Given the description of an element on the screen output the (x, y) to click on. 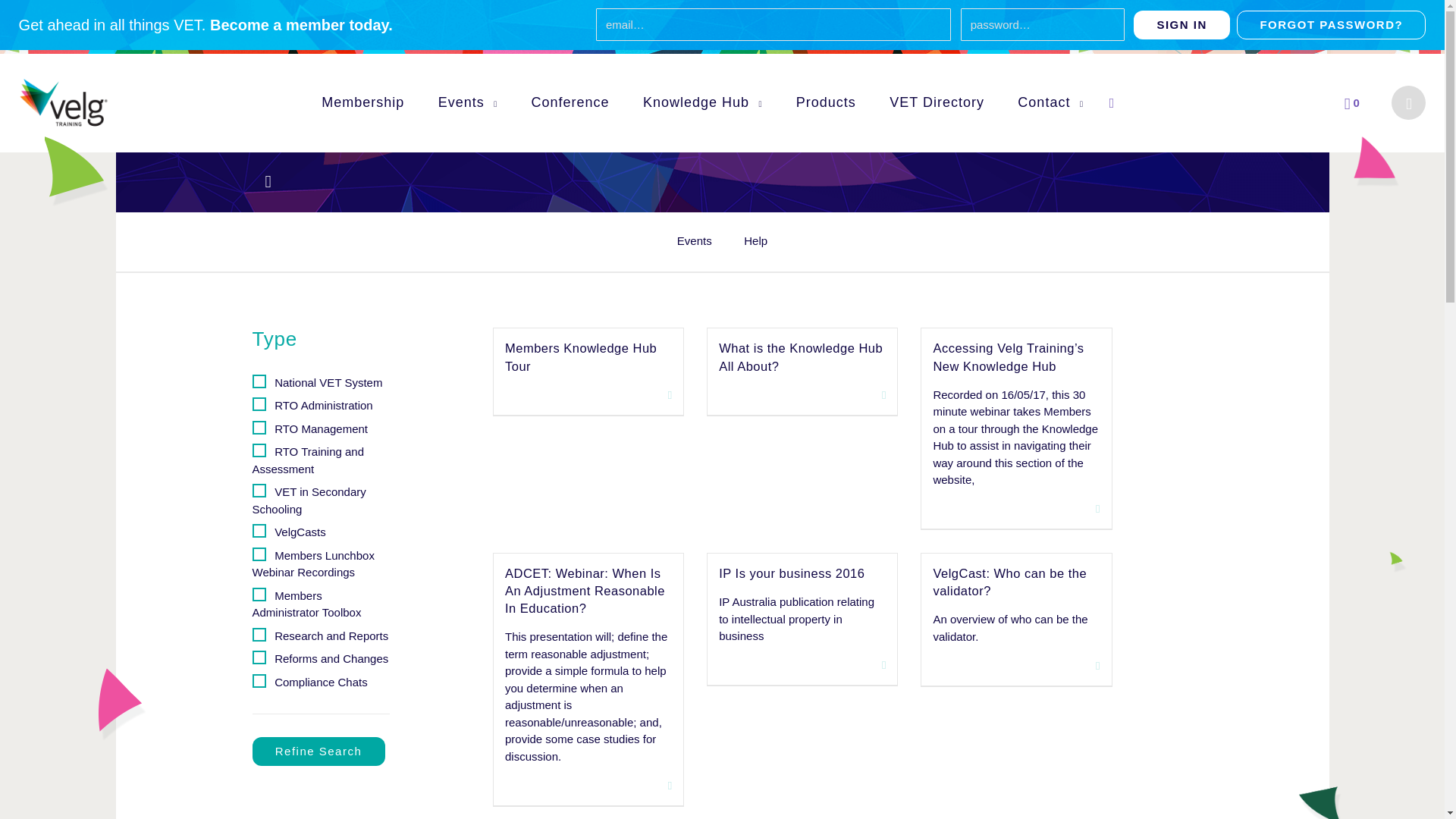
Membership (362, 102)
Products (826, 102)
Become a member today. (301, 24)
0 (1351, 102)
SIGN IN (1182, 24)
Knowledge Hub (702, 102)
Contact (1050, 102)
Conference (569, 102)
Events (467, 102)
FORGOT PASSWORD? (1330, 24)
VET Directory (936, 102)
